Given the description of an element on the screen output the (x, y) to click on. 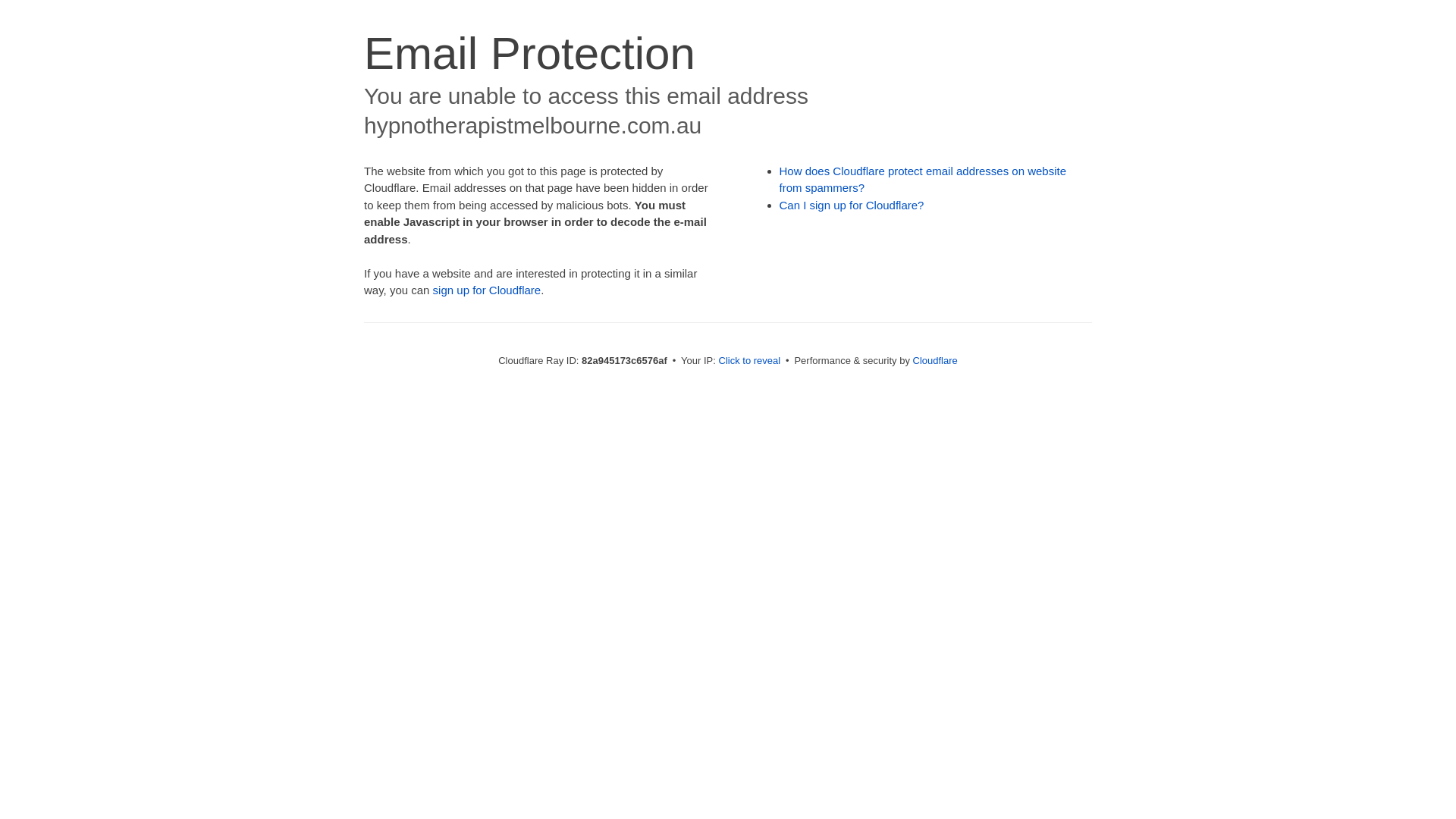
Cloudflare Element type: text (935, 360)
Click to reveal Element type: text (749, 360)
sign up for Cloudflare Element type: text (487, 289)
Can I sign up for Cloudflare? Element type: text (851, 204)
